Given the description of an element on the screen output the (x, y) to click on. 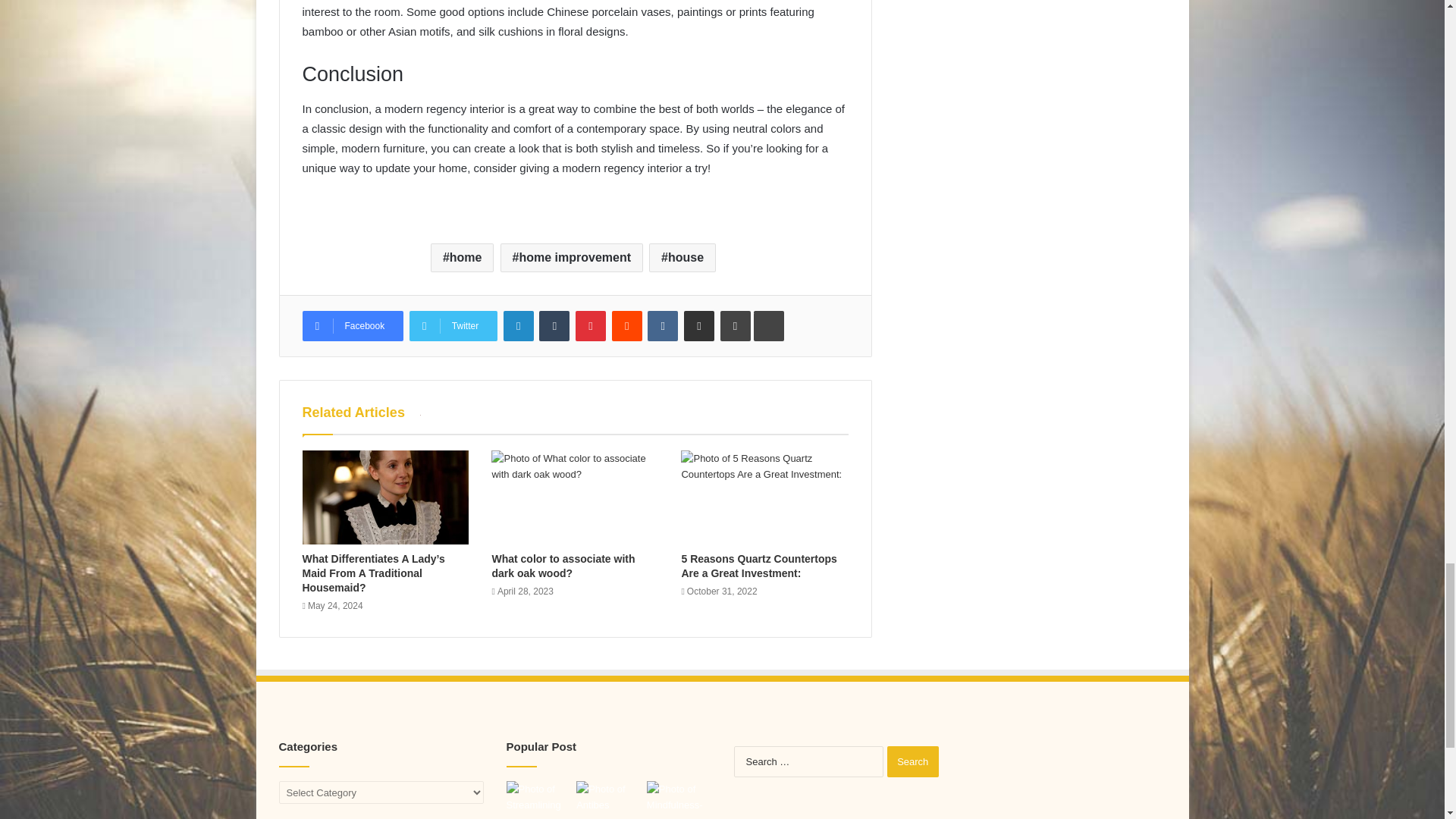
LinkedIn (518, 326)
Reddit (626, 326)
house (682, 257)
Search (912, 761)
Tumblr (553, 326)
LinkedIn (518, 326)
VKontakte (662, 326)
Pinterest (590, 326)
home improvement (571, 257)
Share via Email (699, 326)
Print (735, 326)
home (462, 257)
Tumblr (553, 326)
Twitter (453, 326)
Search (912, 761)
